Given the description of an element on the screen output the (x, y) to click on. 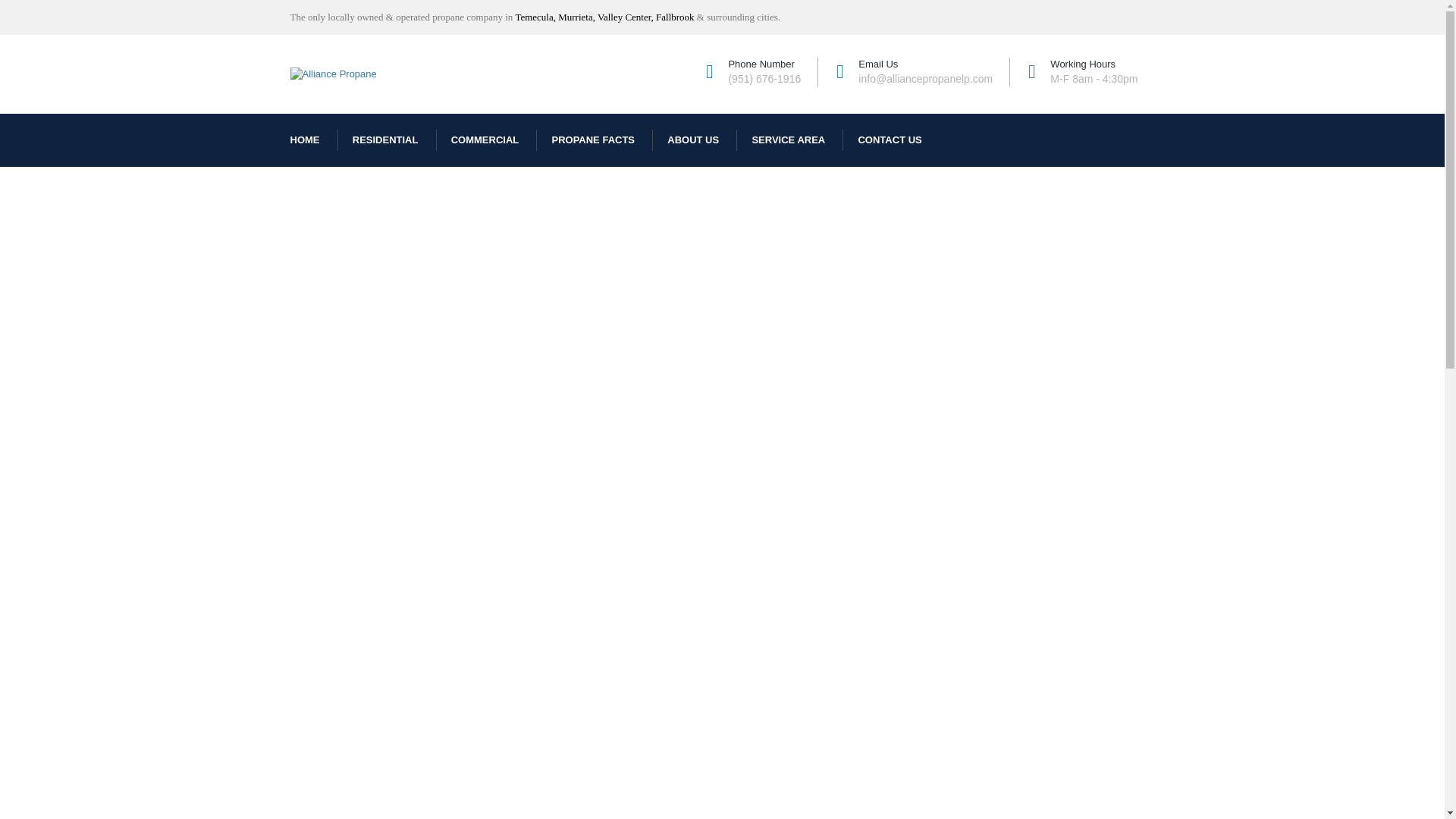
RESIDENTIAL (385, 140)
SERVICE AREA (788, 140)
CONTACT US (882, 140)
PROPANE FACTS (592, 140)
COMMERCIAL (484, 140)
ABOUT US (692, 140)
